Given the description of an element on the screen output the (x, y) to click on. 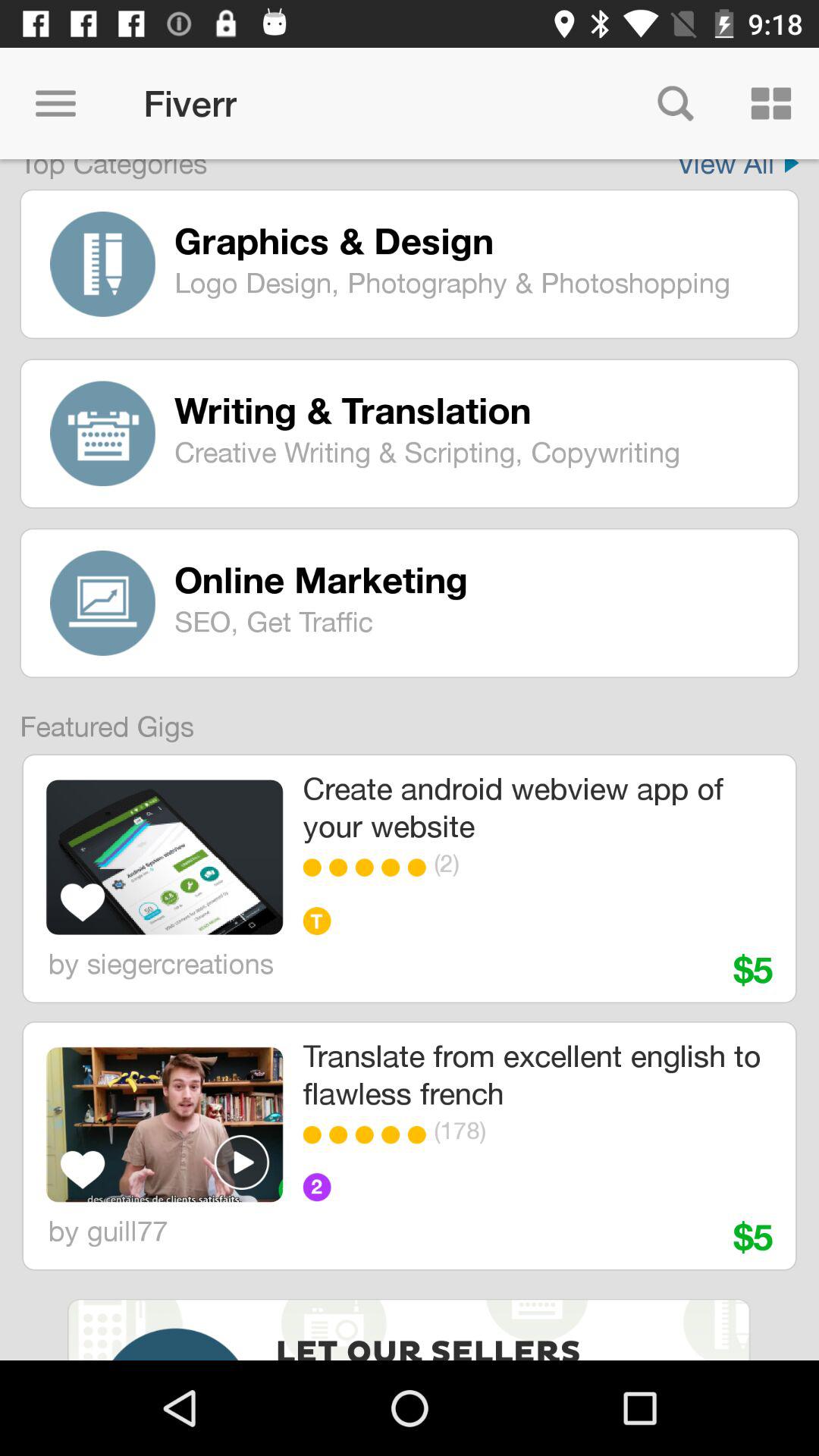
open the icon below online marketing (475, 621)
